Given the description of an element on the screen output the (x, y) to click on. 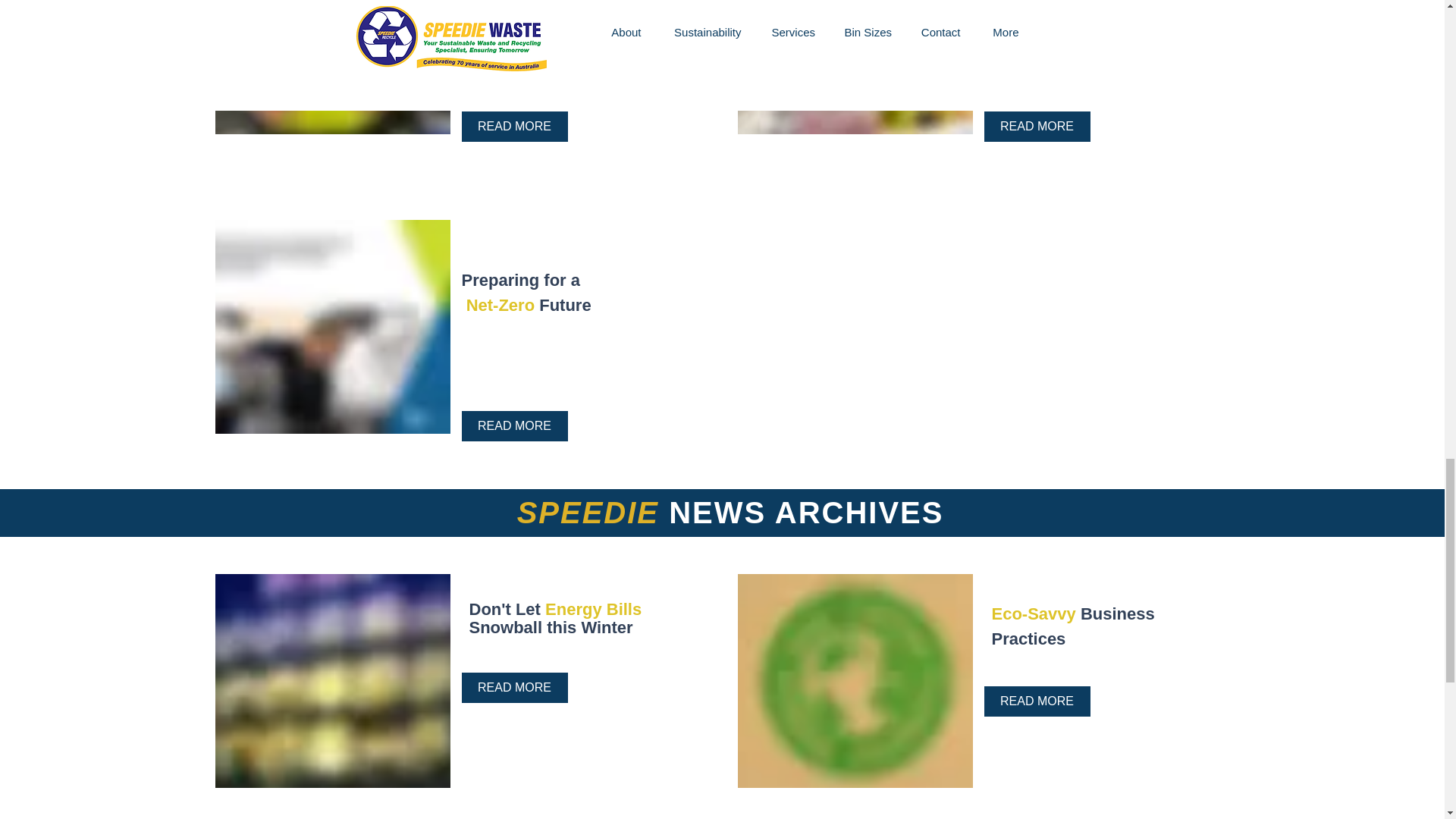
READ MORE (514, 126)
READ MORE (1037, 126)
READ MORE (1037, 701)
READ MORE (514, 687)
READ MORE (514, 426)
